Given the description of an element on the screen output the (x, y) to click on. 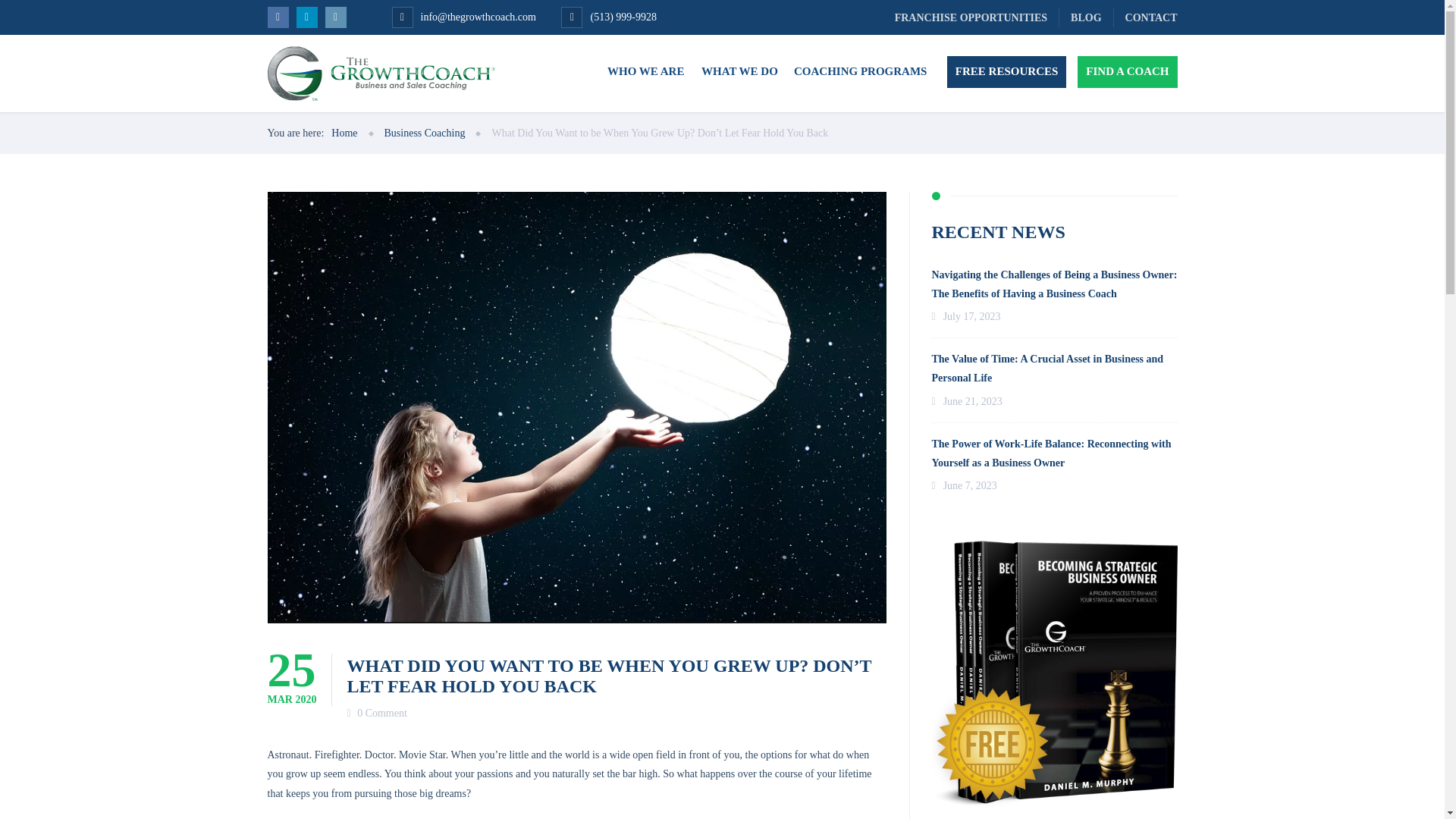
BLOG (1086, 17)
What We Do (739, 71)
FREE RESOURCES (1006, 71)
FRANCHISE OPPORTUNITIES (971, 17)
WHO WE ARE (645, 71)
FIND A COACH (1126, 71)
Coaching Programs (860, 71)
WHAT WE DO (739, 71)
Contact (1145, 17)
Franchise Opportunities (971, 17)
CONTACT (1145, 17)
COACHING PROGRAMS (860, 71)
Who We Are (645, 71)
News (1086, 17)
